Given the description of an element on the screen output the (x, y) to click on. 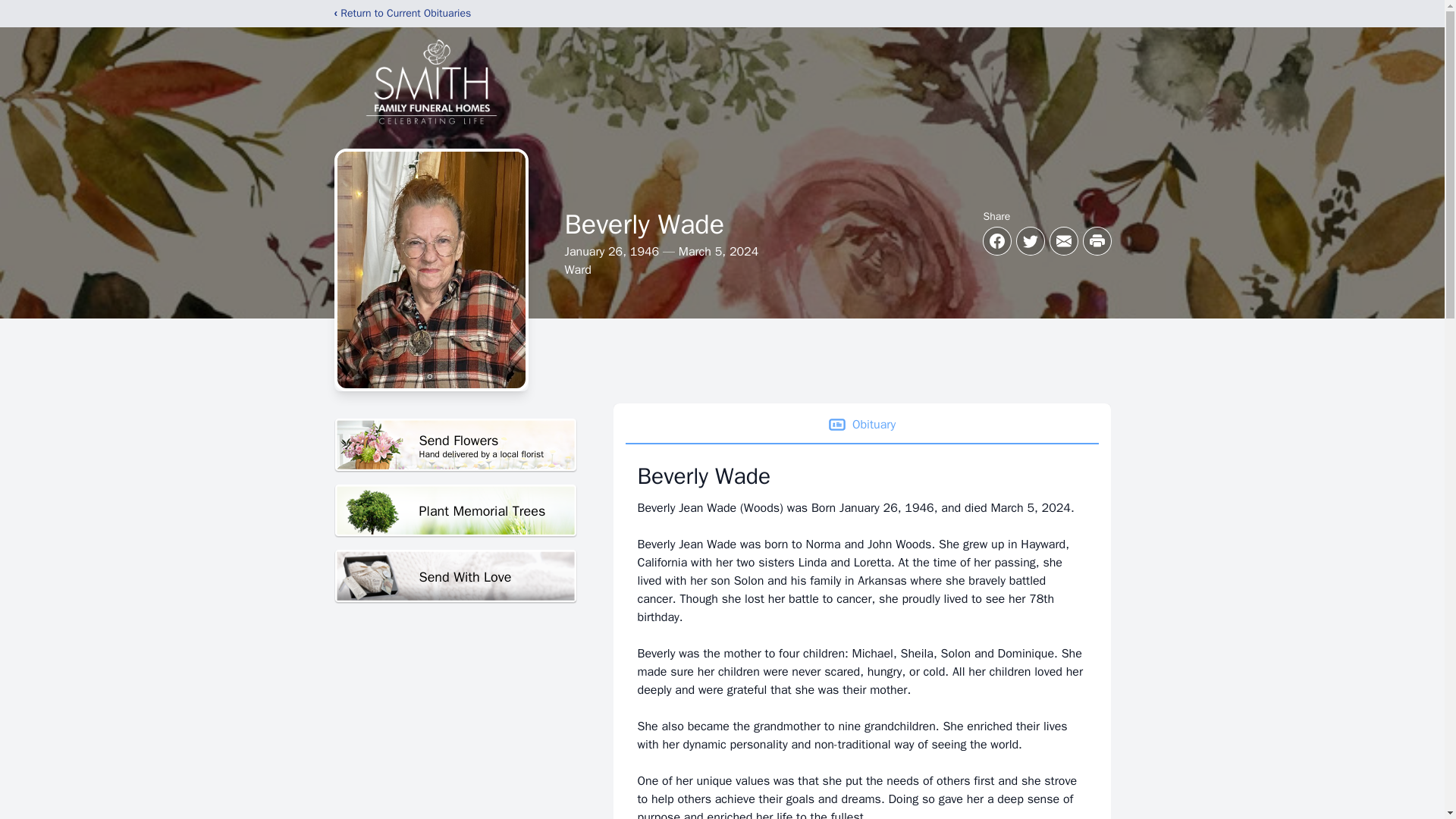
Obituary (860, 425)
Plant Memorial Trees (454, 511)
Send With Love (454, 576)
